Given the description of an element on the screen output the (x, y) to click on. 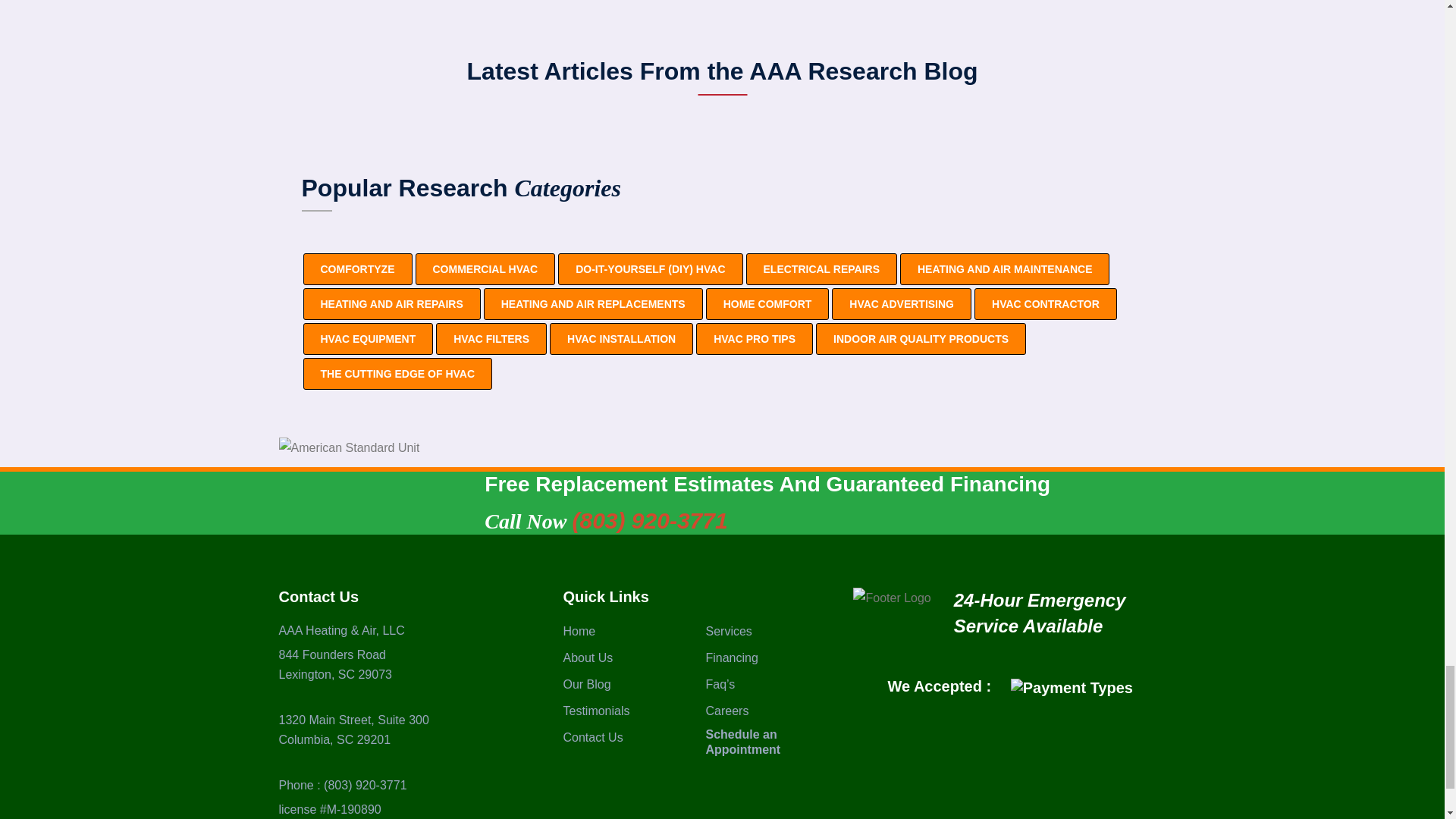
Comfortyze Tag (357, 269)
